Given the description of an element on the screen output the (x, y) to click on. 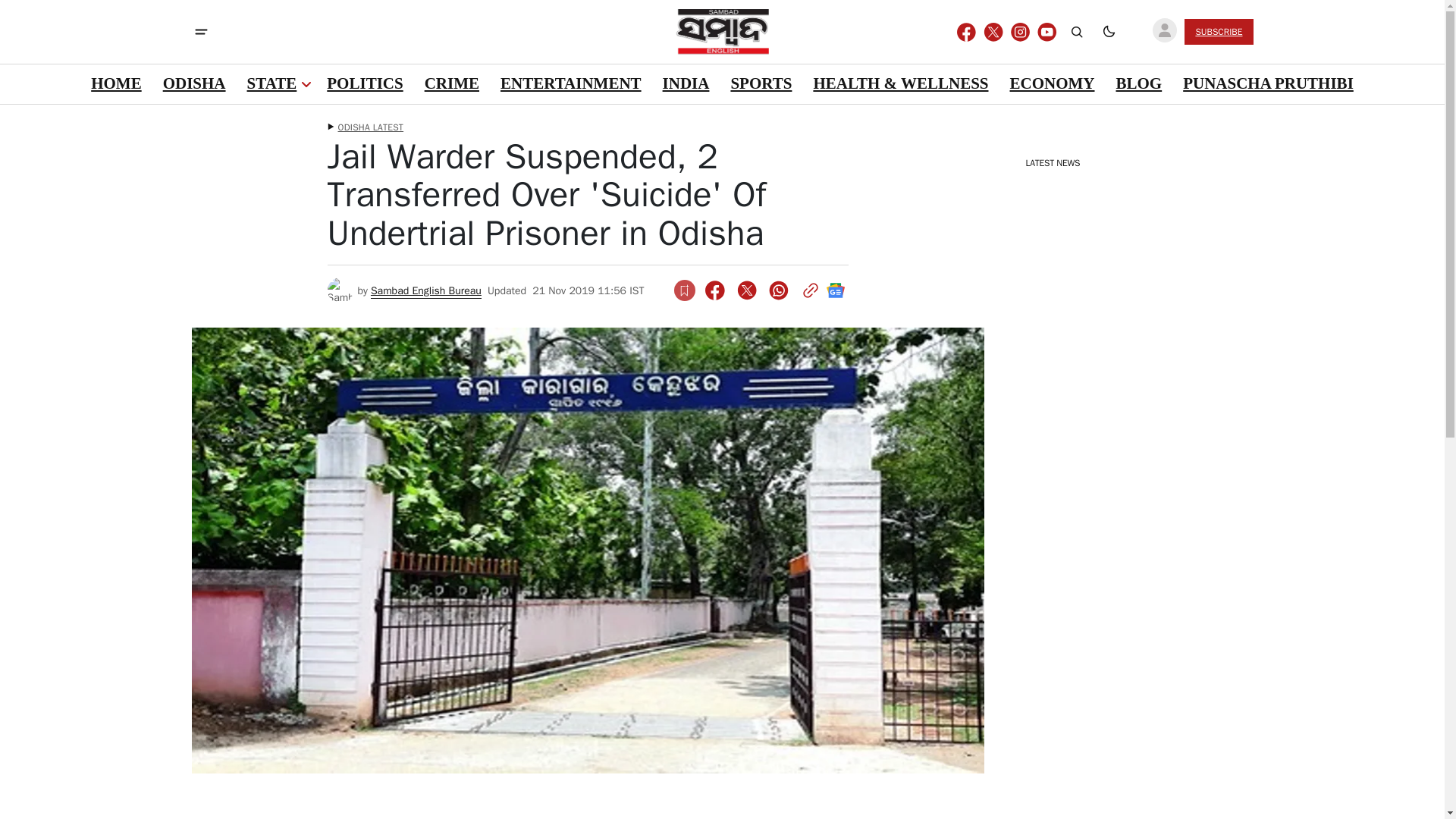
HOME (116, 84)
INDIA (686, 84)
STATE (271, 84)
SUBSCRIBE (1218, 31)
PUNASCHA PRUTHIBI (1267, 84)
BLOG (1138, 84)
ECONOMY (1051, 84)
ENTERTAINMENT (570, 84)
ODISHA (194, 84)
POLITICS (364, 84)
